Given the description of an element on the screen output the (x, y) to click on. 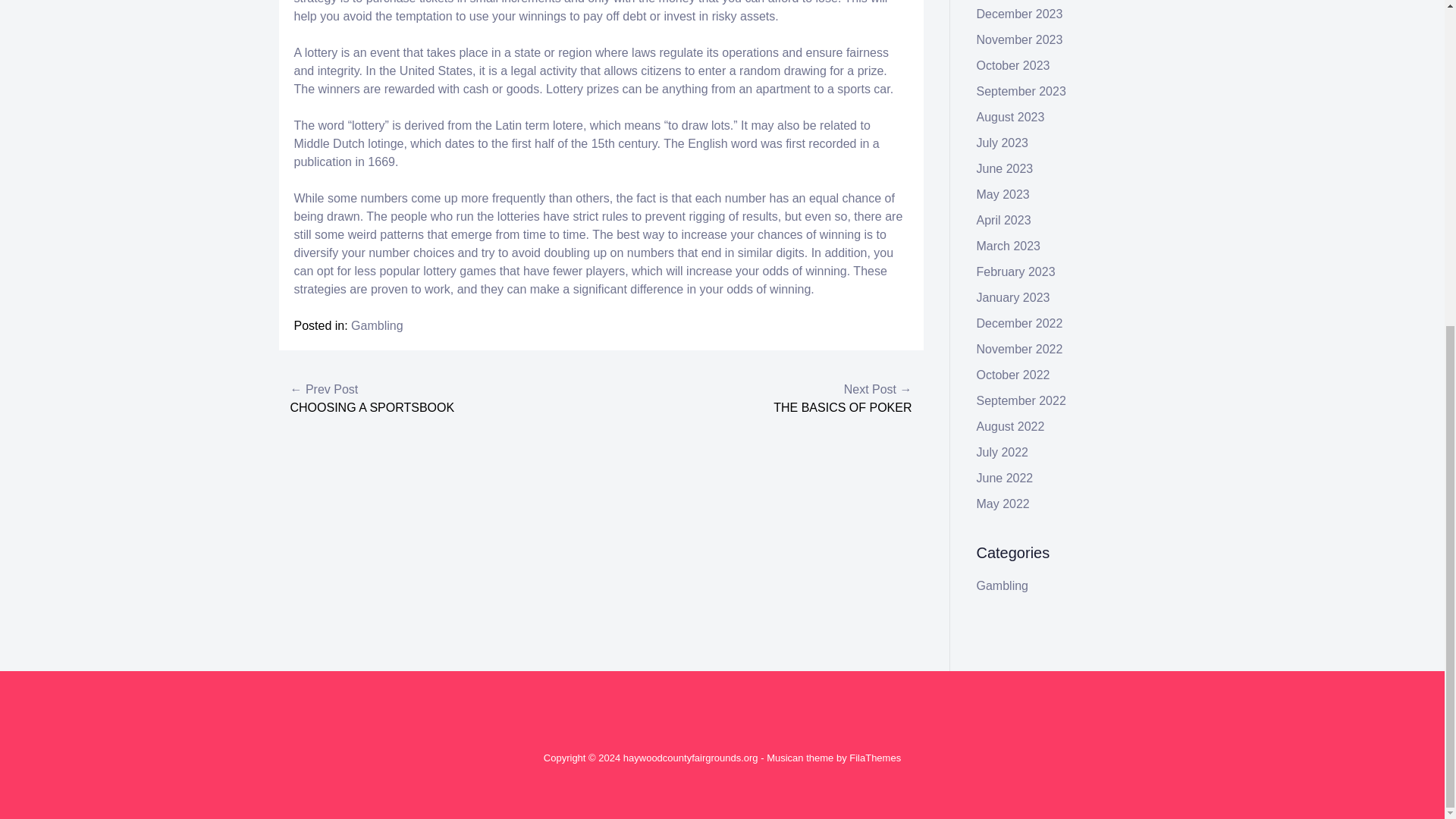
March 2023 (1008, 245)
January 2023 (1012, 297)
October 2023 (1012, 65)
September 2022 (1020, 400)
October 2022 (1012, 374)
May 2022 (1002, 503)
December 2023 (1019, 13)
December 2022 (1019, 323)
May 2023 (1002, 194)
August 2023 (1010, 116)
